Given the description of an element on the screen output the (x, y) to click on. 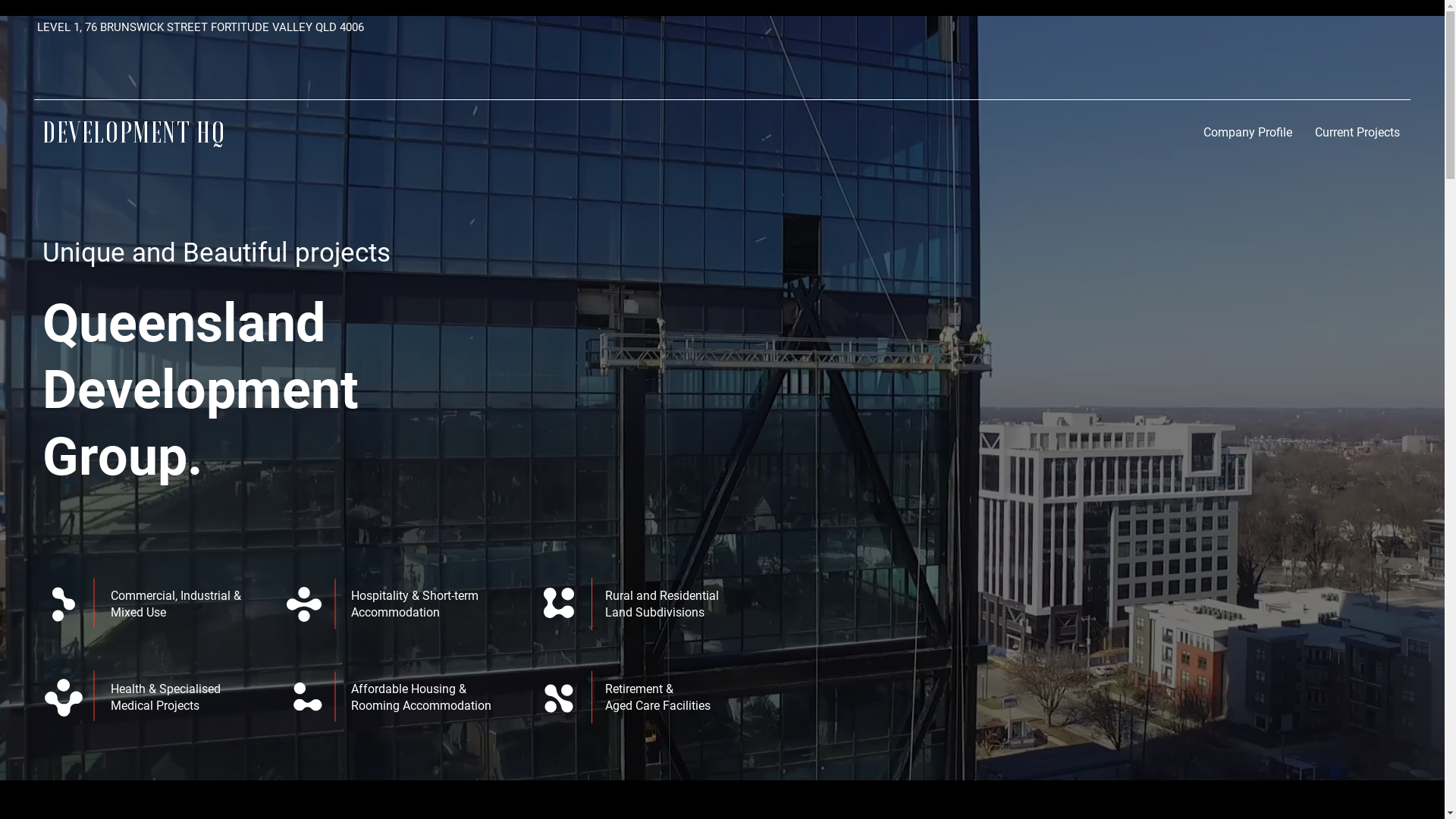
Company Profile Element type: text (1247, 132)
Current Projects Element type: text (1357, 132)
DEVELOPMENT HQ Element type: text (133, 131)
